Given the description of an element on the screen output the (x, y) to click on. 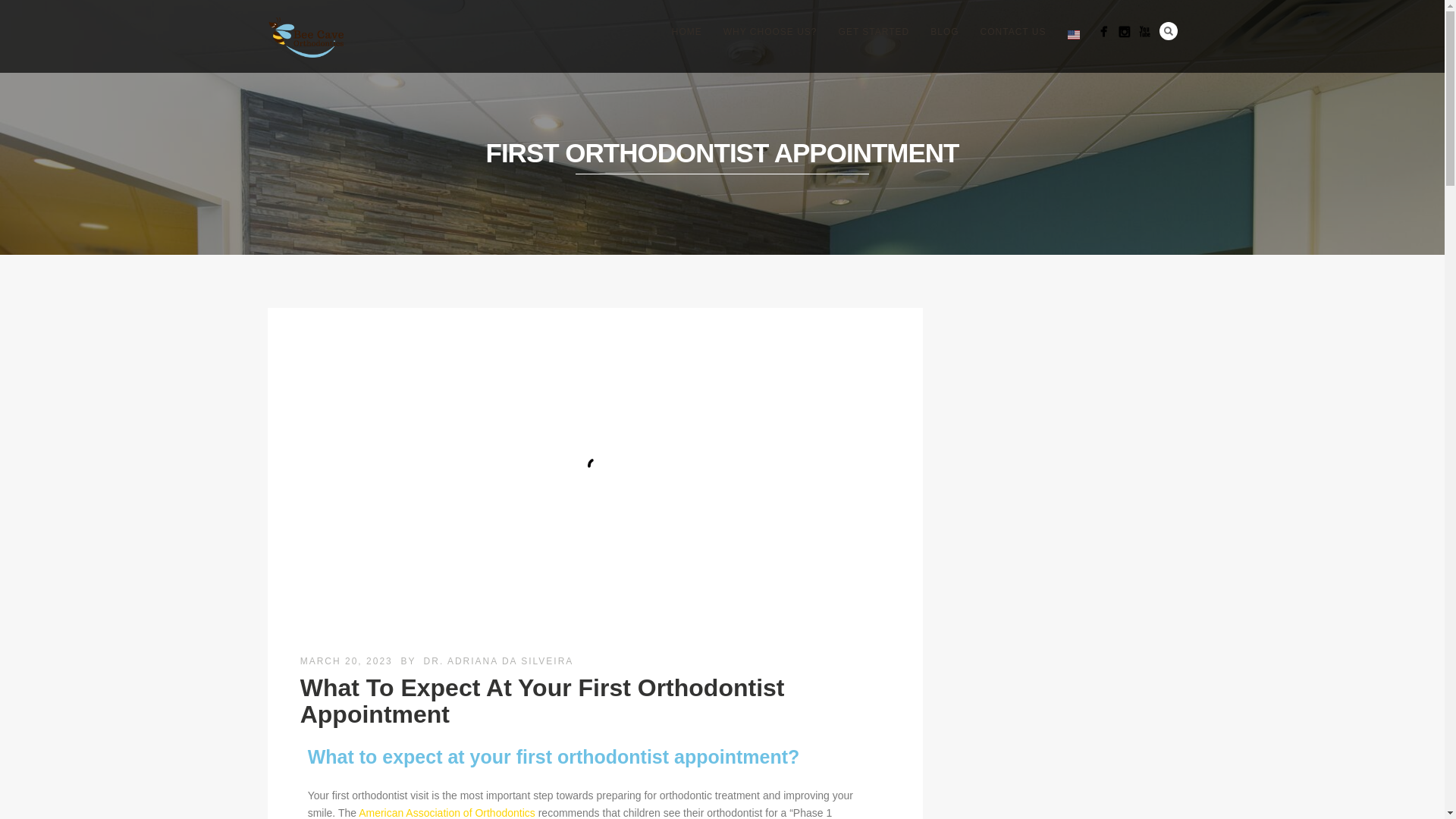
YouTube (1143, 31)
CONTACT US (1013, 31)
WHY CHOOSE US? (770, 31)
Search (1167, 31)
GET STARTED (874, 31)
Instagram (1124, 31)
Facebook (1102, 31)
HOME (687, 31)
BLOG (944, 31)
